Given the description of an element on the screen output the (x, y) to click on. 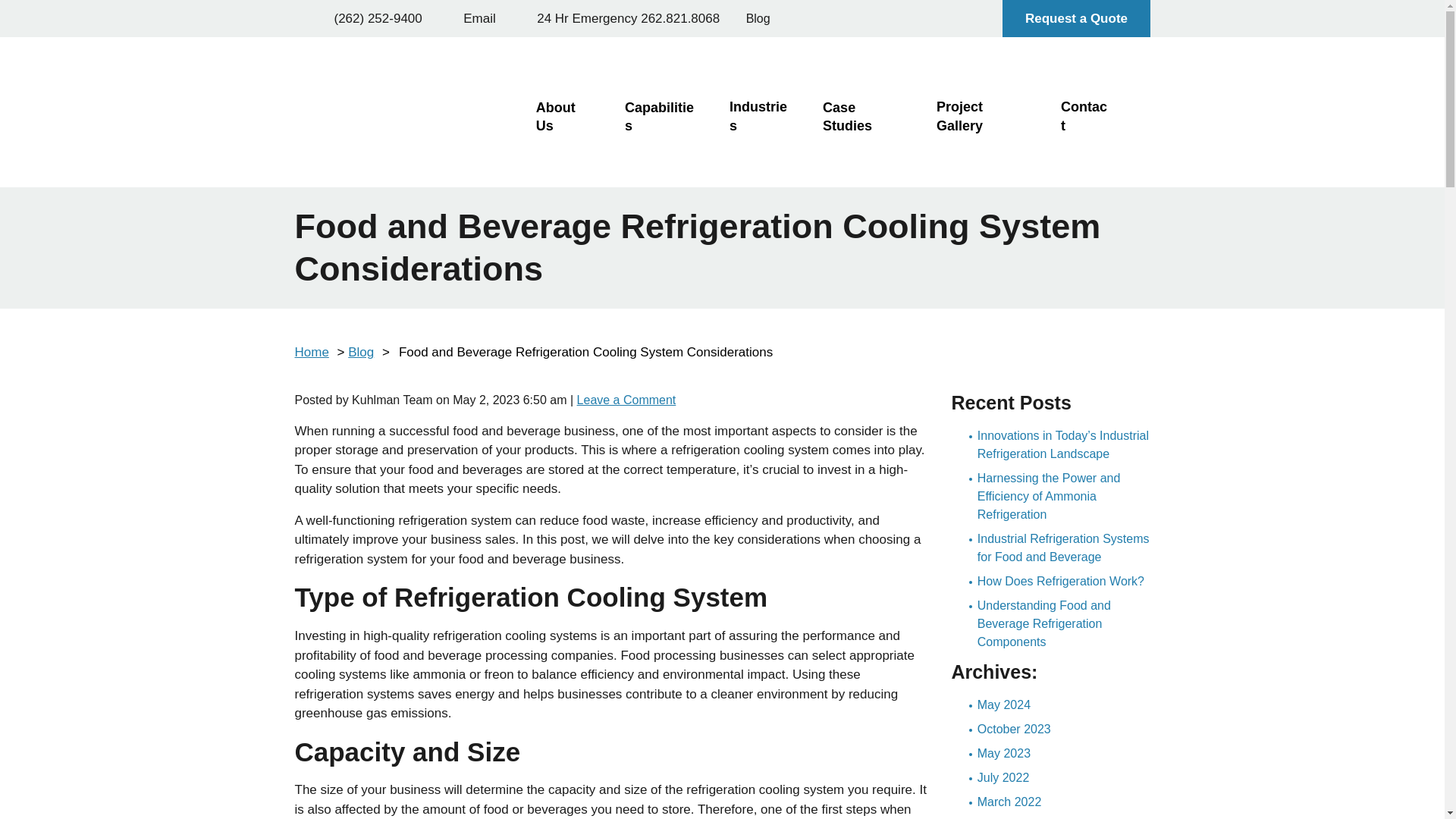
Contact (1085, 116)
Blog (758, 18)
Capabilities (662, 116)
Blog (360, 351)
Request a Quote (1076, 18)
Case Studies (865, 116)
24 Hr Emergency 262.821.8068 (616, 18)
Project Gallery (984, 116)
Home (311, 351)
Industries (761, 116)
Leave a Comment (626, 399)
Email (468, 18)
About Us (565, 116)
